Given the description of an element on the screen output the (x, y) to click on. 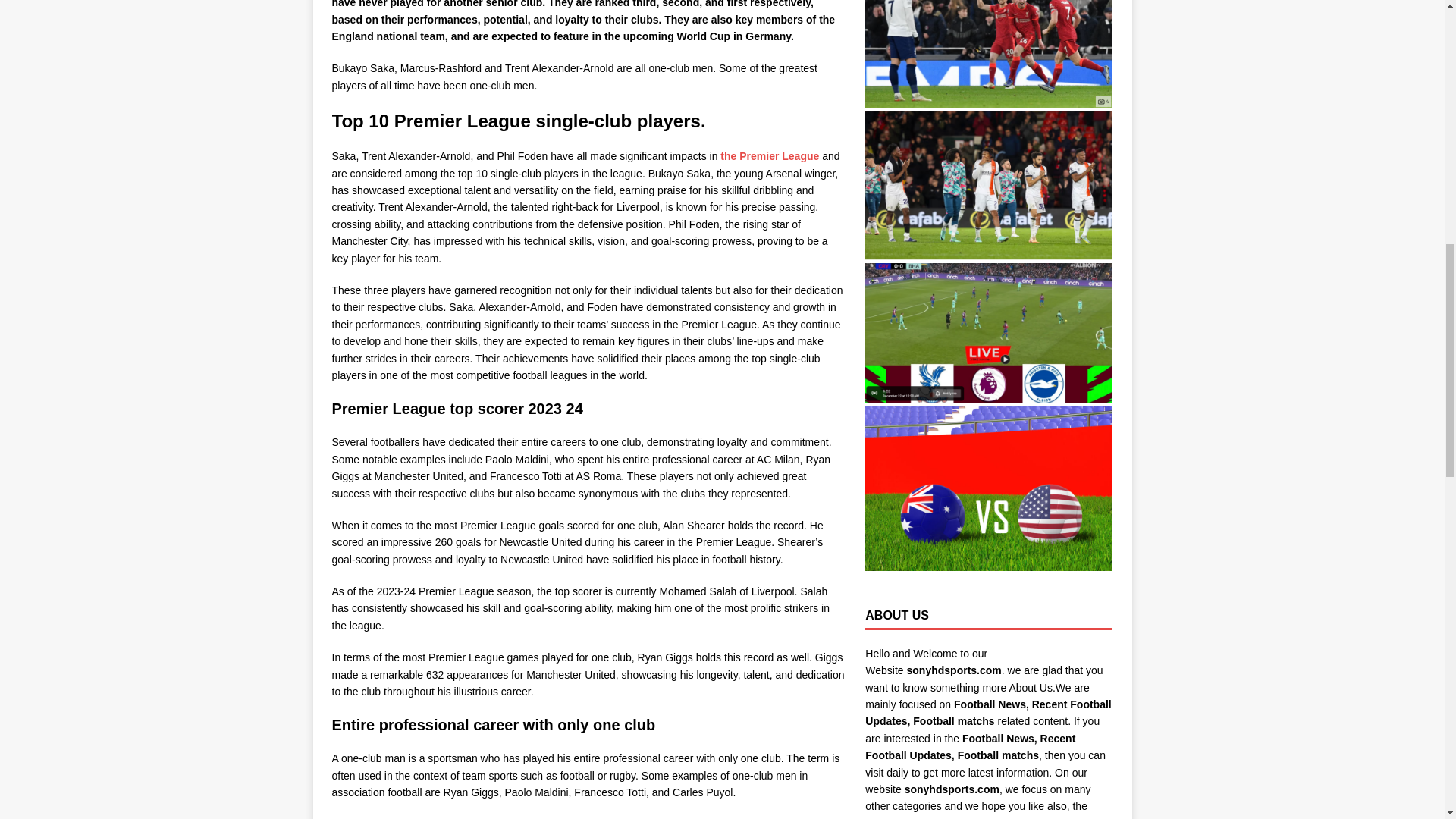
the Premier League (769, 155)
